Given the description of an element on the screen output the (x, y) to click on. 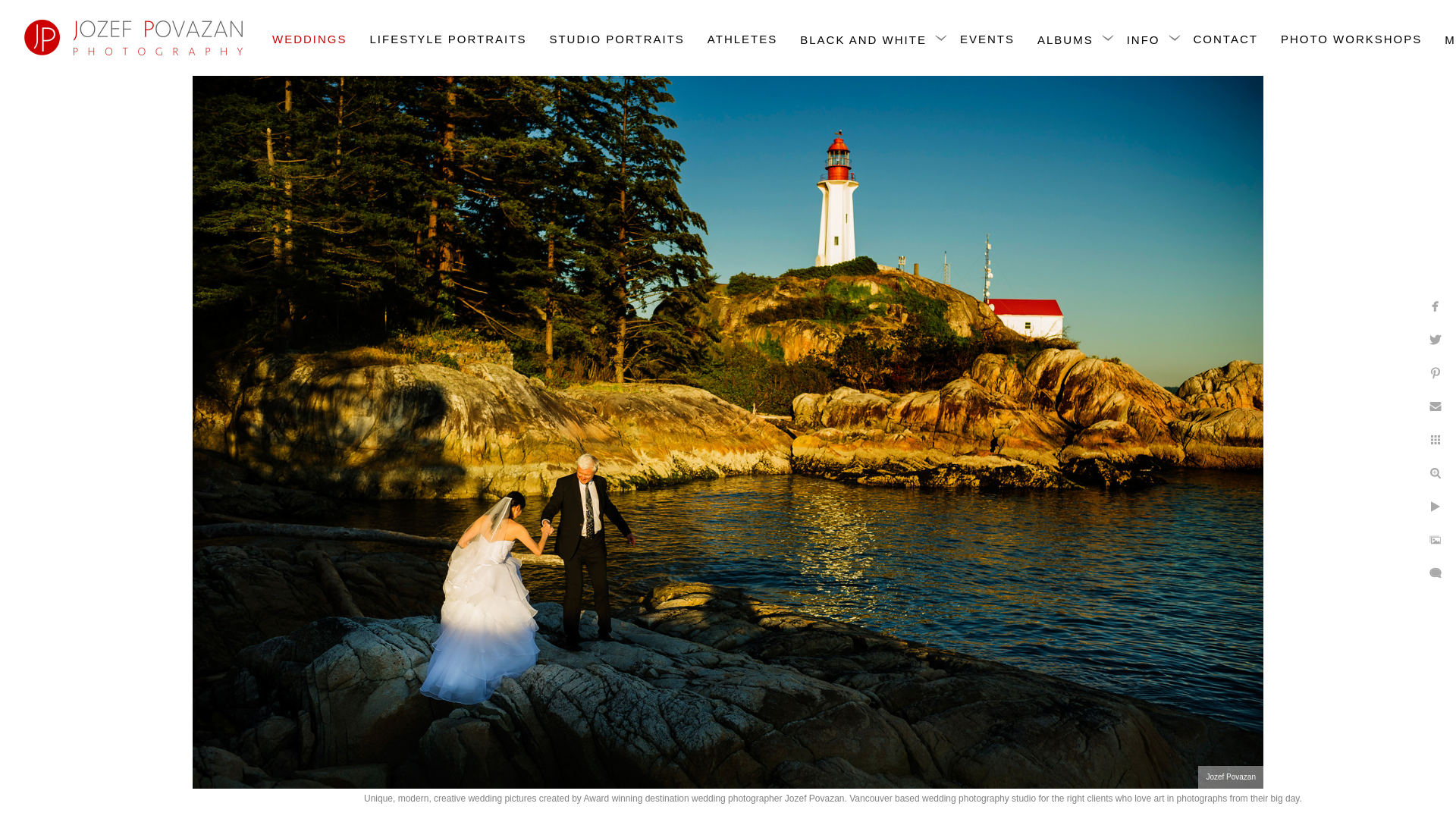
LIFESTYLE PORTRAITS (448, 38)
ATHLETES (742, 38)
EVENTS (986, 38)
ALBUMS (1064, 39)
STUDIO PORTRAITS (616, 38)
INFO (1143, 39)
CONTACT (1225, 38)
WEDDINGS (309, 38)
BLACK AND WHITE (862, 39)
